Given the description of an element on the screen output the (x, y) to click on. 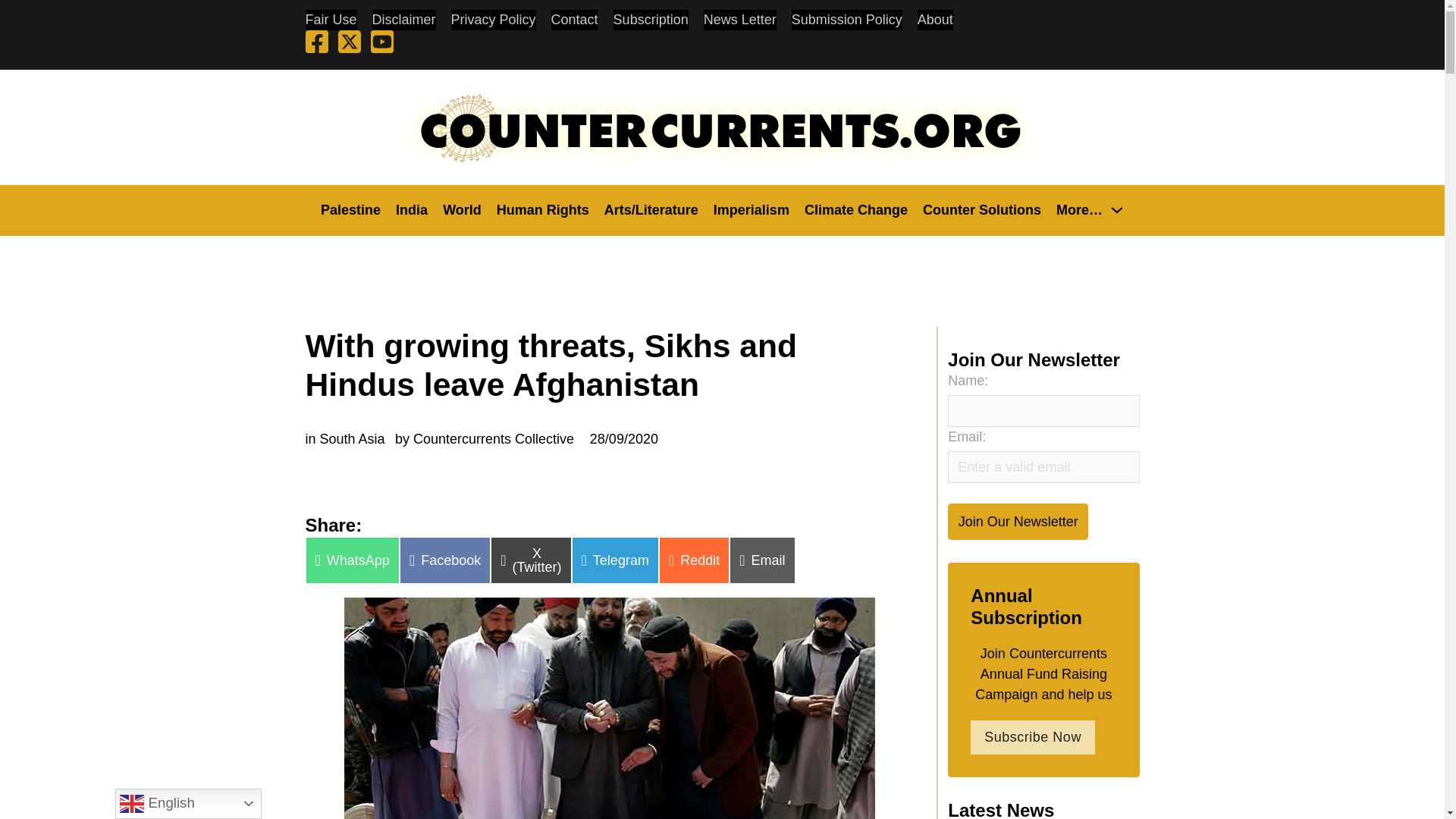
Join Our Newsletter (1017, 520)
Counter Solutions (982, 209)
Human Rights (542, 209)
World (461, 209)
Palestine (350, 209)
About (935, 19)
Privacy Policy (493, 19)
Imperialism (751, 209)
With growing threats, Sikhs and Hindus leave Afghanistan 2 (609, 708)
Submission Policy (847, 19)
